Given the description of an element on the screen output the (x, y) to click on. 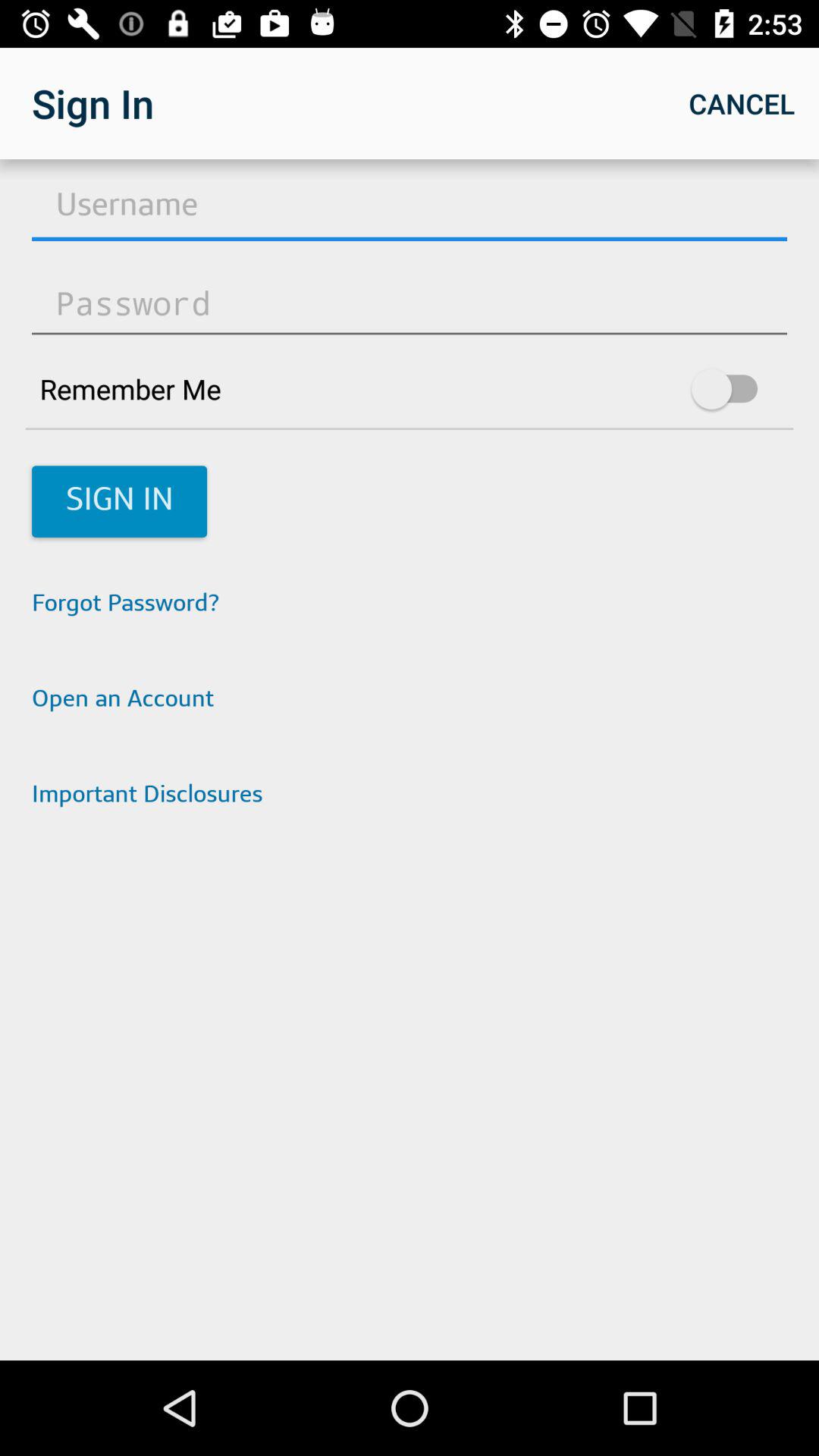
tap cancel icon (741, 103)
